Given the description of an element on the screen output the (x, y) to click on. 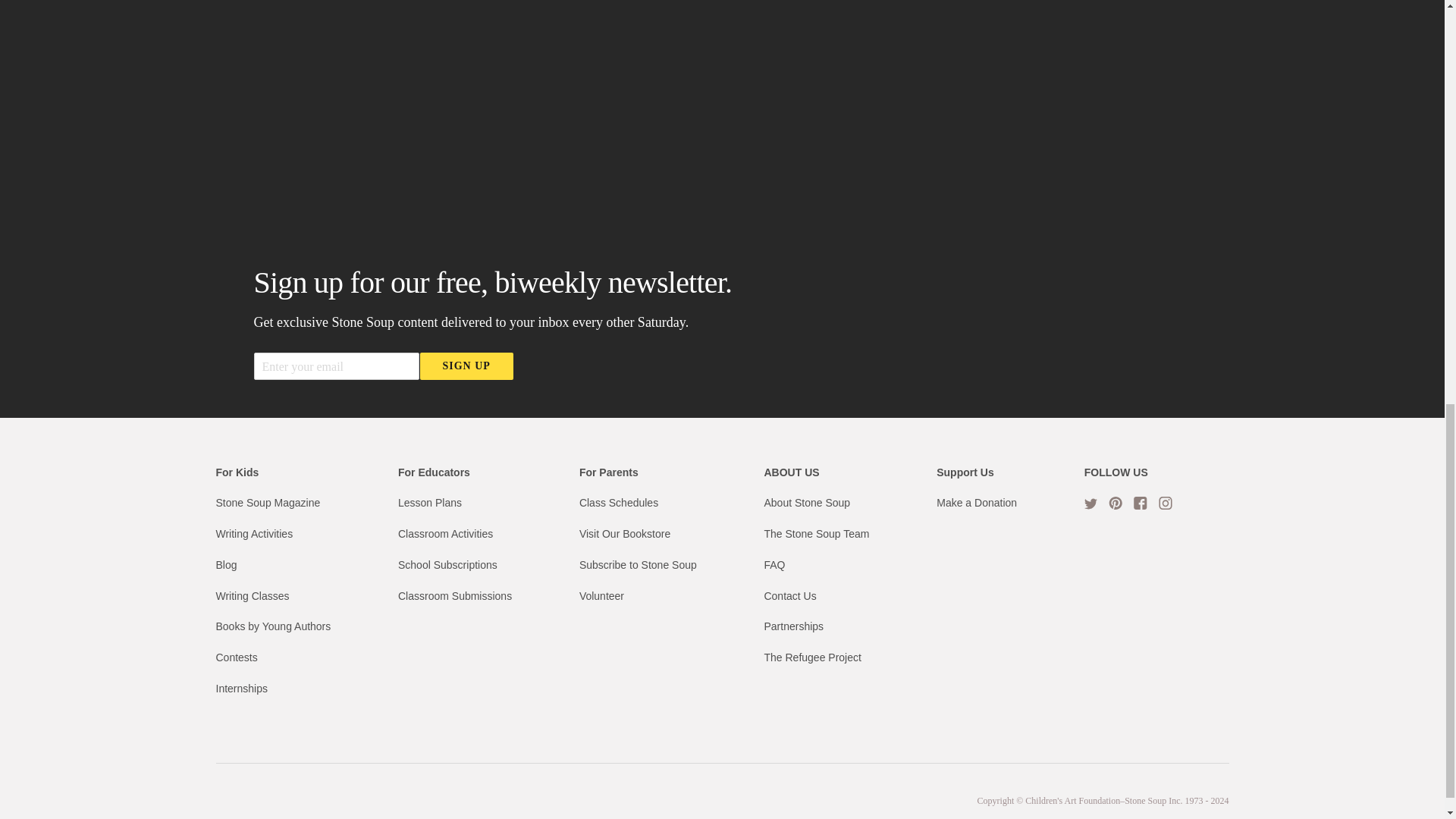
Sign Up (466, 366)
Stone Soup Magazine (267, 502)
Sign Up (466, 366)
